Given the description of an element on the screen output the (x, y) to click on. 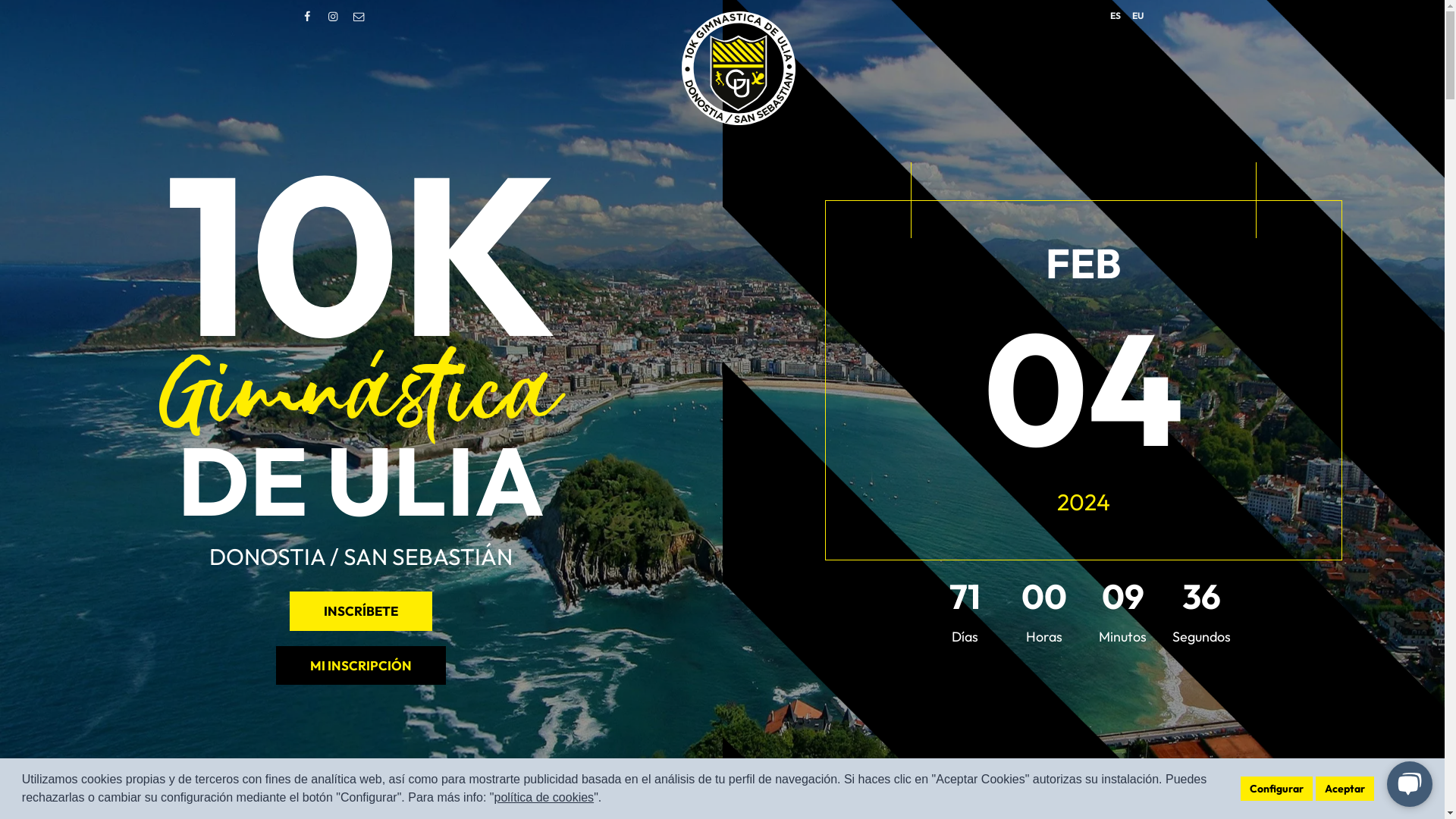
Configurar Element type: text (1276, 788)
Aceptar Element type: text (1344, 788)
ES Element type: text (1115, 15)
EU Element type: text (1136, 15)
